Given the description of an element on the screen output the (x, y) to click on. 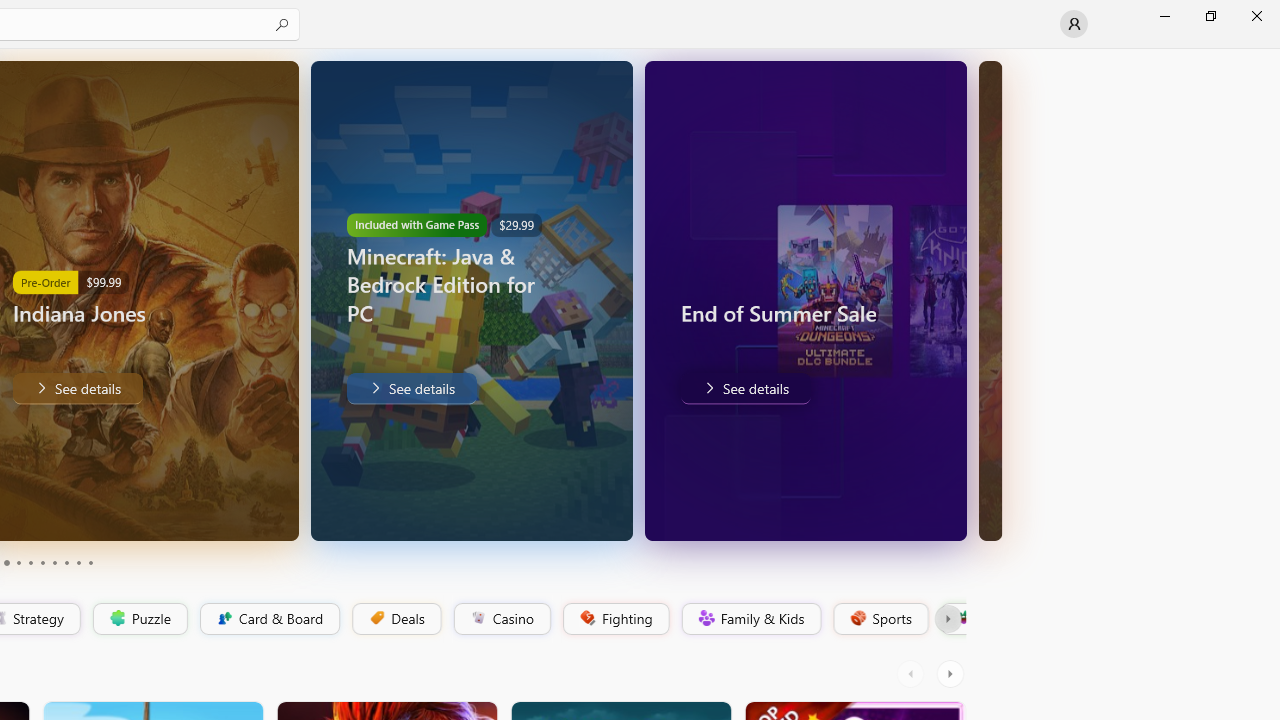
Class: Image (961, 617)
Close Microsoft Store (1256, 15)
Restore Microsoft Store (1210, 15)
Page 10 (90, 562)
Page 9 (77, 562)
Deals (395, 619)
Casino (501, 619)
User profile (1073, 24)
AutomationID: RightScrollButton (952, 673)
Page 4 (17, 562)
Page 7 (54, 562)
Family & Kids (750, 619)
